Given the description of an element on the screen output the (x, y) to click on. 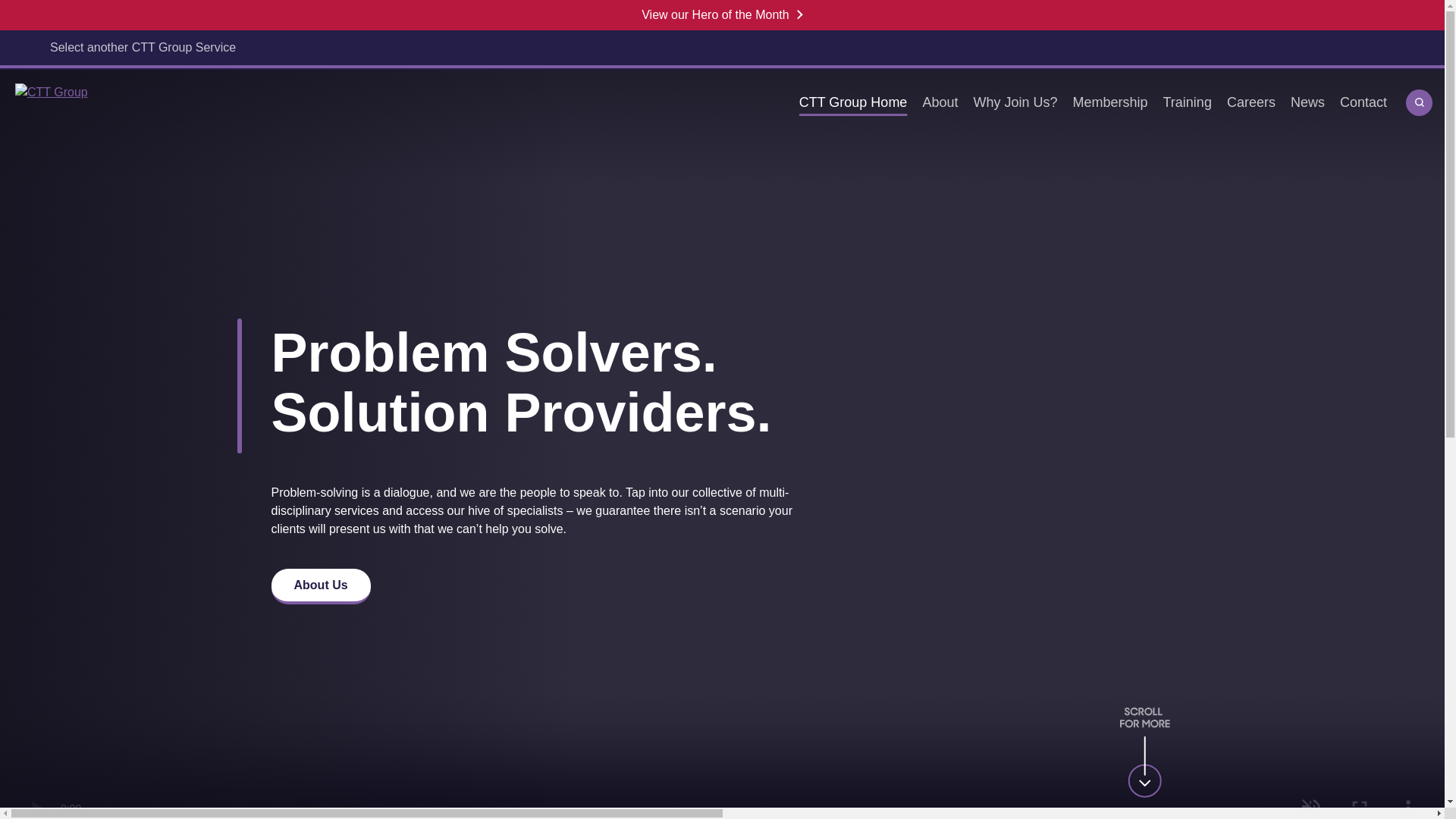
Why Join Us? (1014, 102)
Membership (1109, 102)
About Us (320, 586)
CTT Group Home (853, 102)
About (939, 102)
Careers (1251, 102)
Contact (1363, 102)
Skip to main content (11, 11)
View our Hero of the Month (722, 14)
Training (1188, 102)
